Given the description of an element on the screen output the (x, y) to click on. 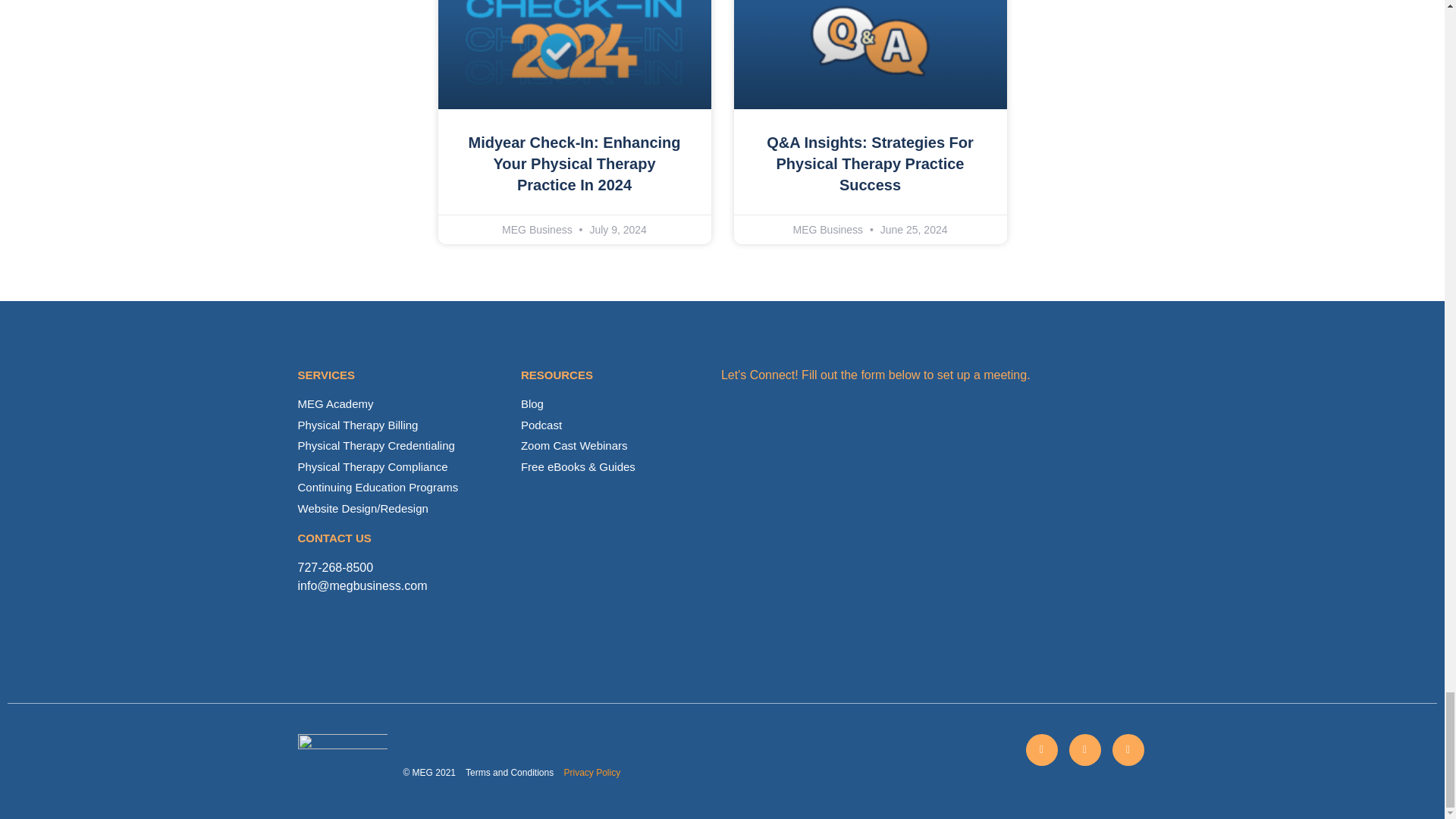
Form 0 (932, 515)
